Given the description of an element on the screen output the (x, y) to click on. 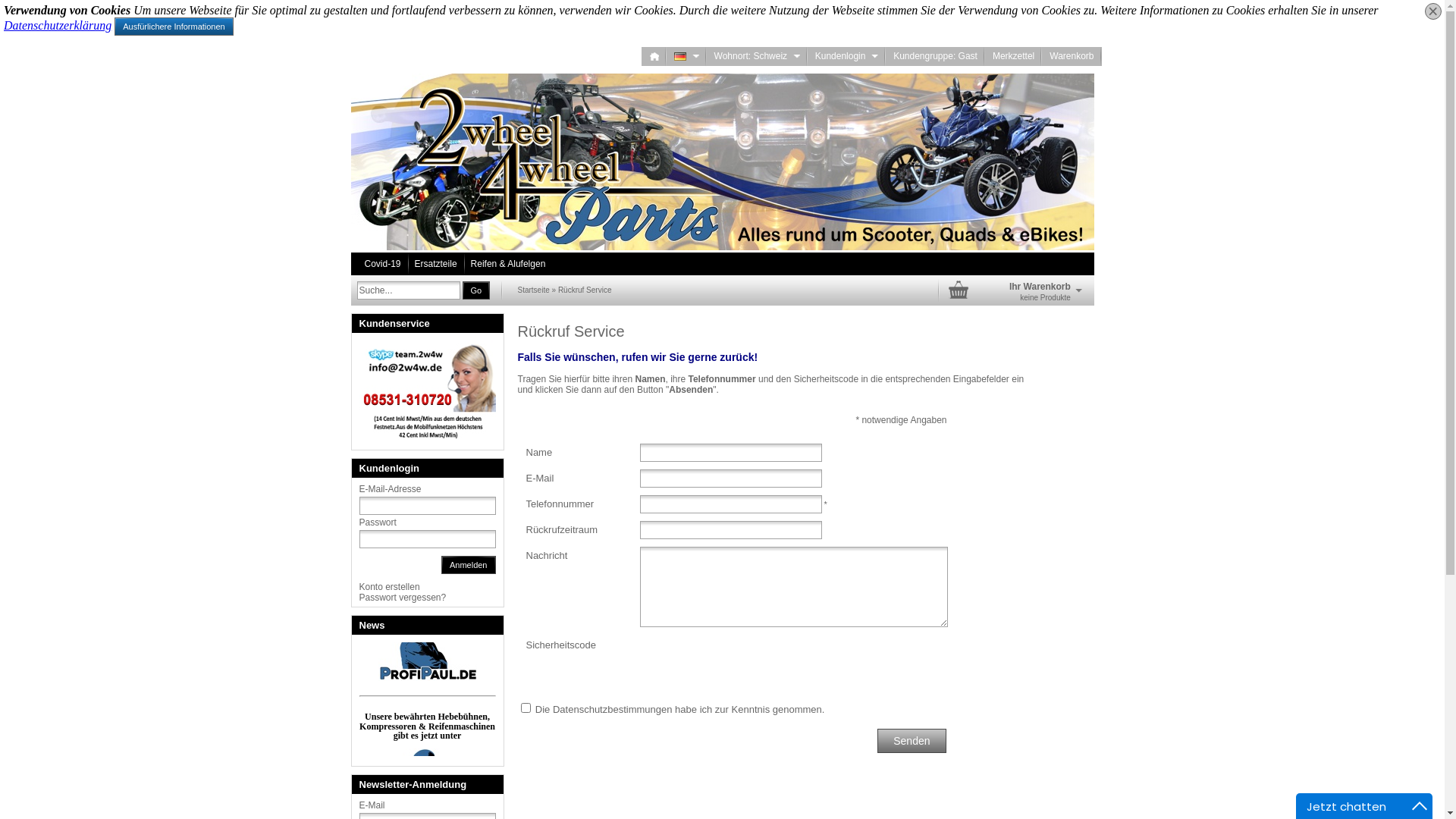
Anmelden Element type: text (468, 564)
Go Element type: text (476, 290)
Merkzettel Element type: text (1012, 56)
Wohnort: Schweiz      Element type: text (756, 56)
Covid-19 Element type: text (381, 263)
Warenkorb Element type: text (1070, 56)
      Element type: text (685, 56)
2wheel 4wheel Shop Element type: hover (721, 161)
Startseite anzeigen Element type: hover (653, 56)
Maximal Element type: hover (1419, 806)
Senden Element type: text (911, 740)
Ersatzteile Element type: text (435, 263)
Passwort vergessen? Element type: text (402, 597)
Datenschutzbestimmungen Element type: text (612, 709)
Kundenlogin      Element type: text (845, 56)
Wohnort: Schweiz Element type: hover (792, 56)
Startseite anzeigen Element type: hover (653, 56)
Reifen & Alufelgen Element type: text (508, 263)
Startseite Element type: text (534, 289)
     Element type: text (653, 56)
Konto erstellen Element type: text (389, 586)
